Given the description of an element on the screen output the (x, y) to click on. 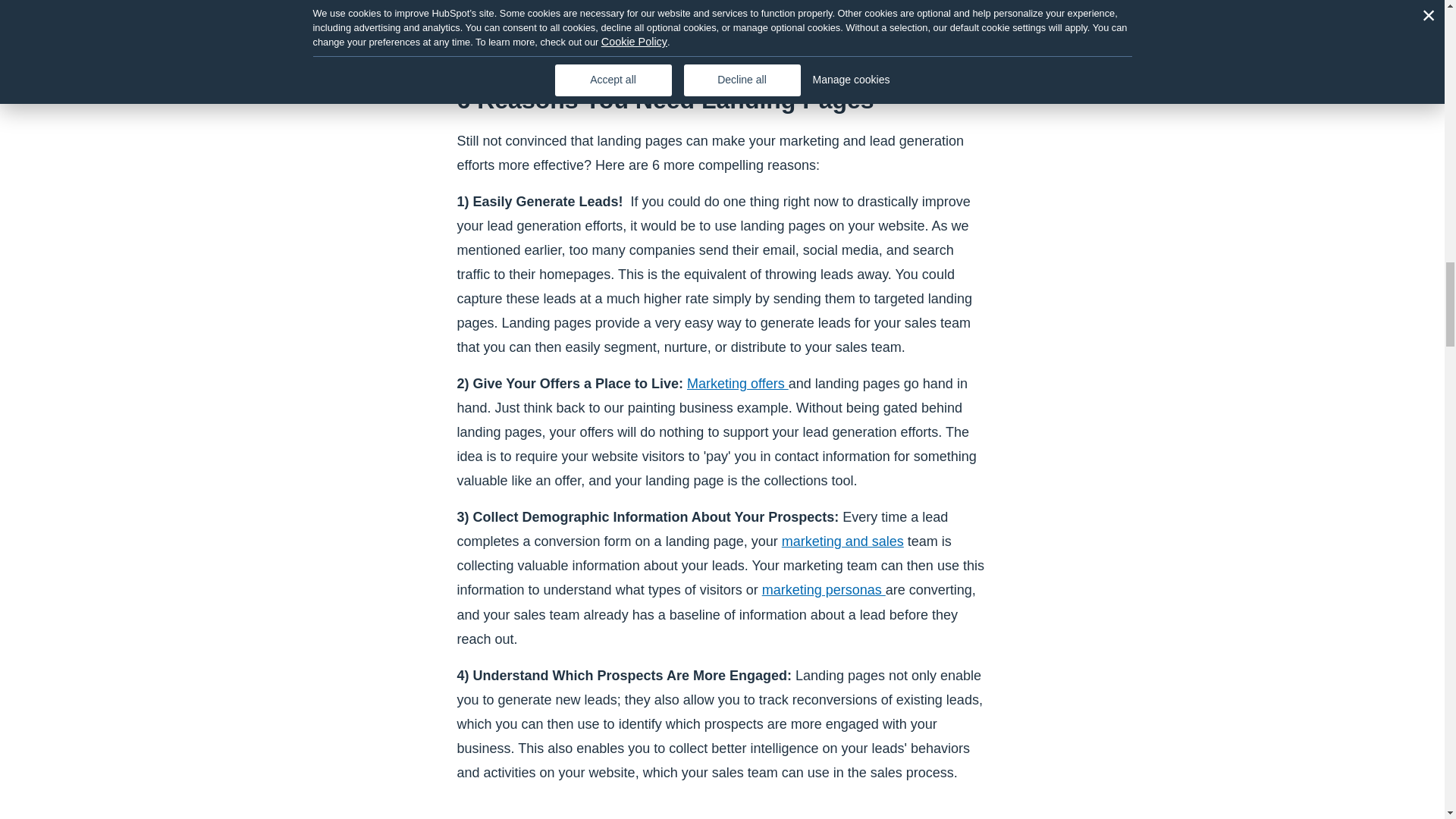
Marketing offers (738, 383)
marketing personas (823, 589)
